Given the description of an element on the screen output the (x, y) to click on. 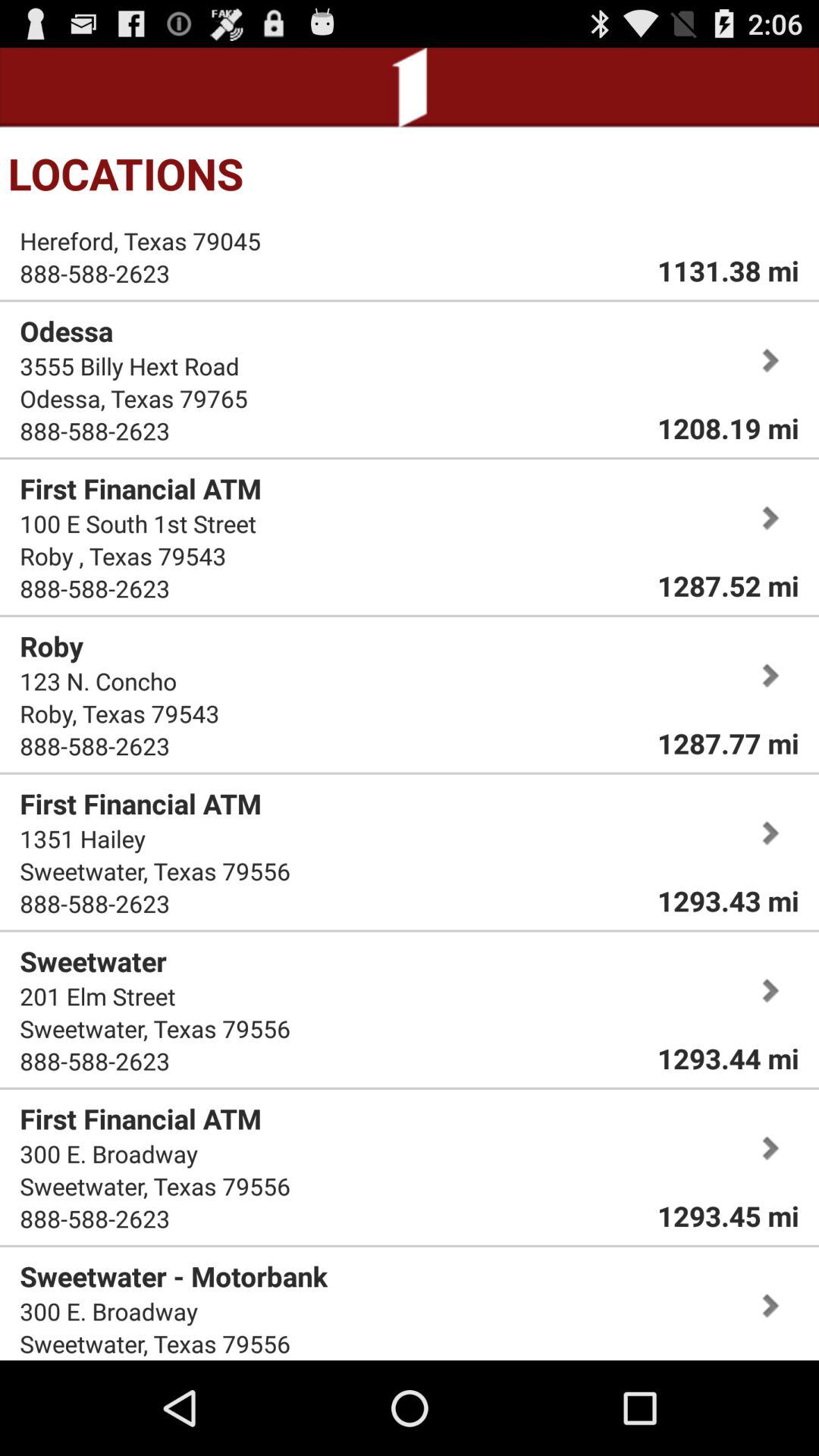
tap the hereford, texas 79045 app (140, 240)
